Given the description of an element on the screen output the (x, y) to click on. 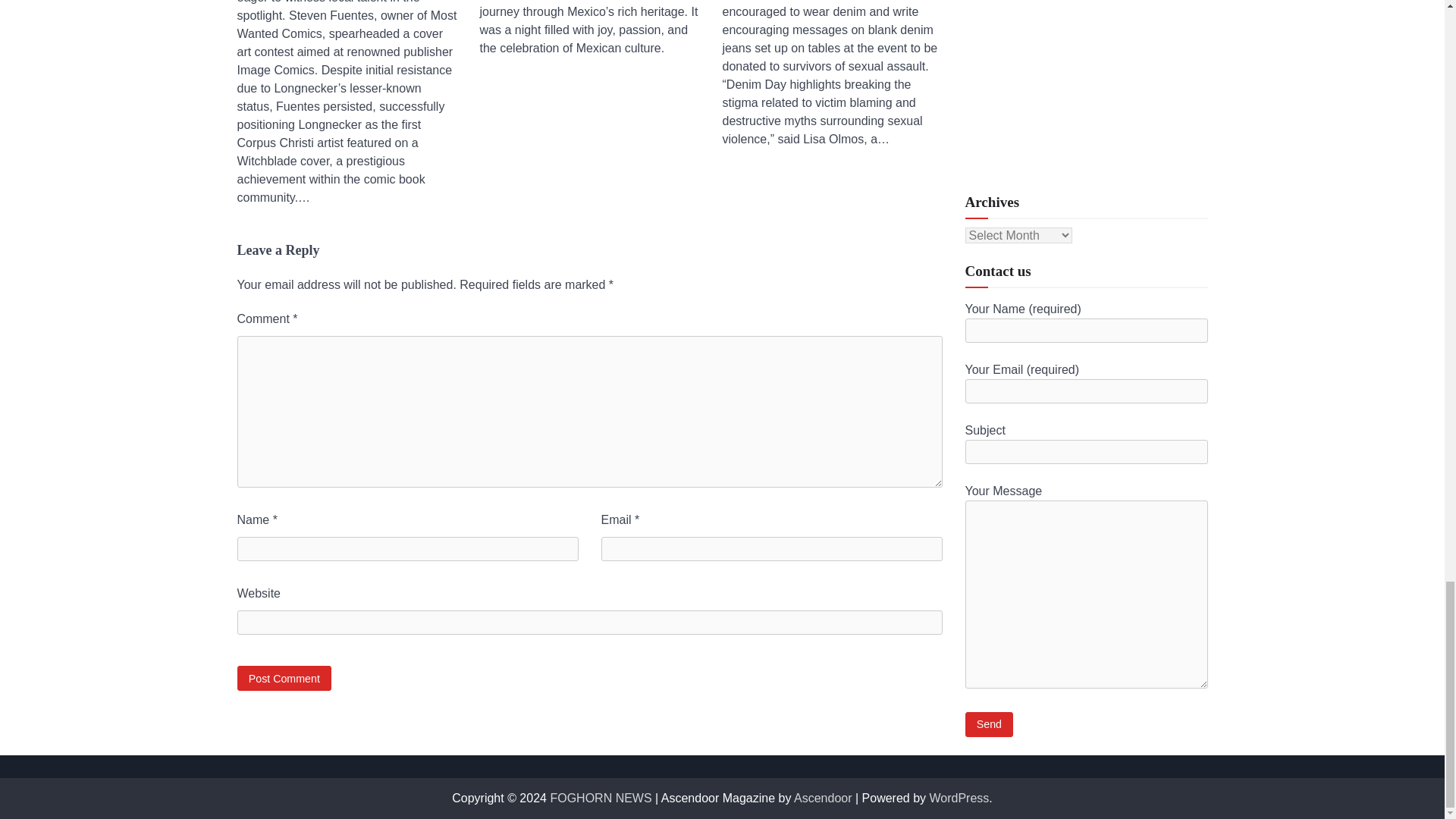
WordPress (960, 797)
FOGHORN NEWS (600, 797)
Post Comment (283, 678)
Post Comment (283, 678)
Ascendoor (822, 797)
